Given the description of an element on the screen output the (x, y) to click on. 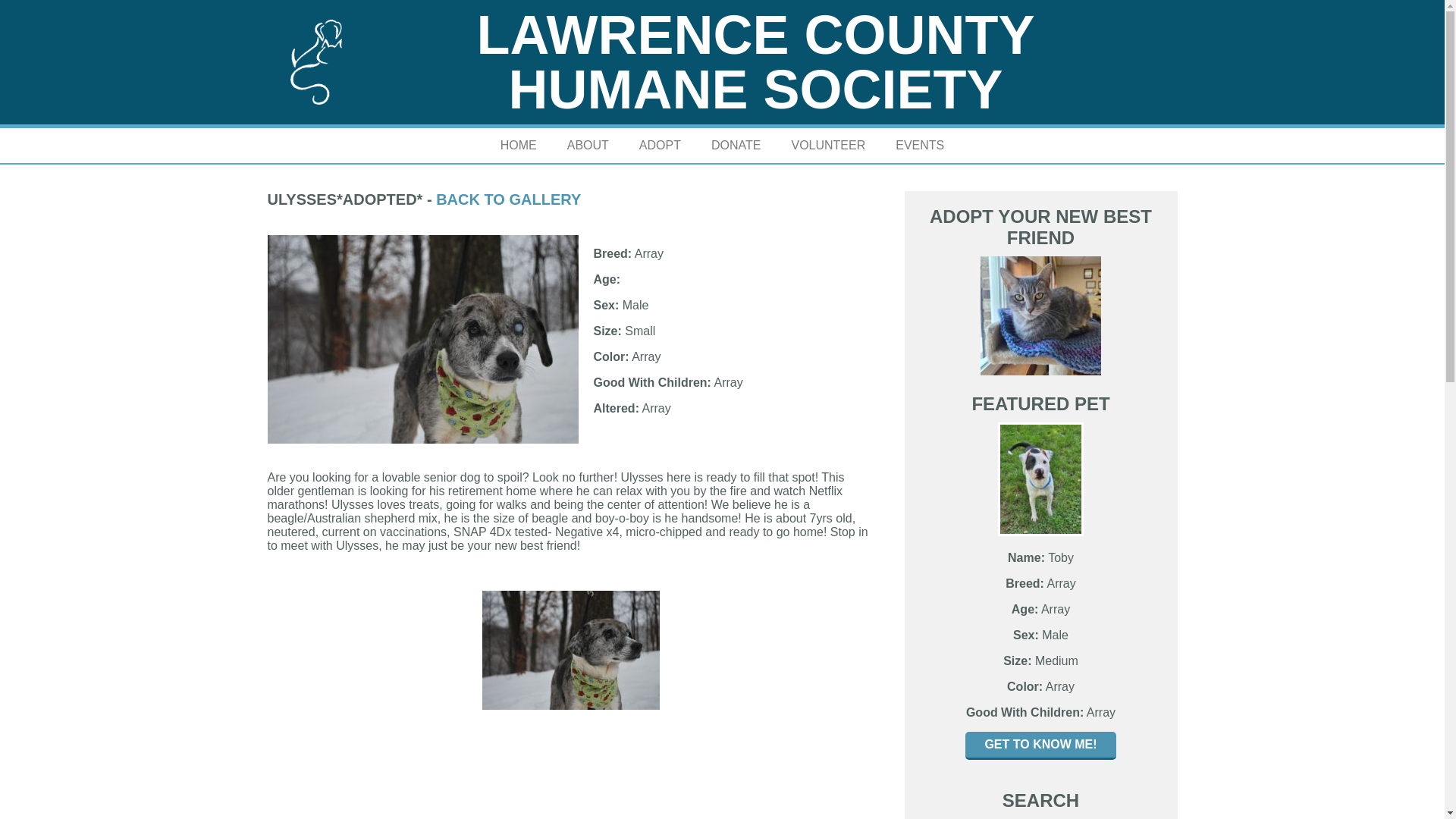
HOME (517, 144)
VOLUNTEER (828, 144)
DONATE (735, 144)
ADOPT (659, 144)
Adopt your new Best Friend (1039, 315)
EVENTS (919, 144)
ABOUT (587, 144)
